Given the description of an element on the screen output the (x, y) to click on. 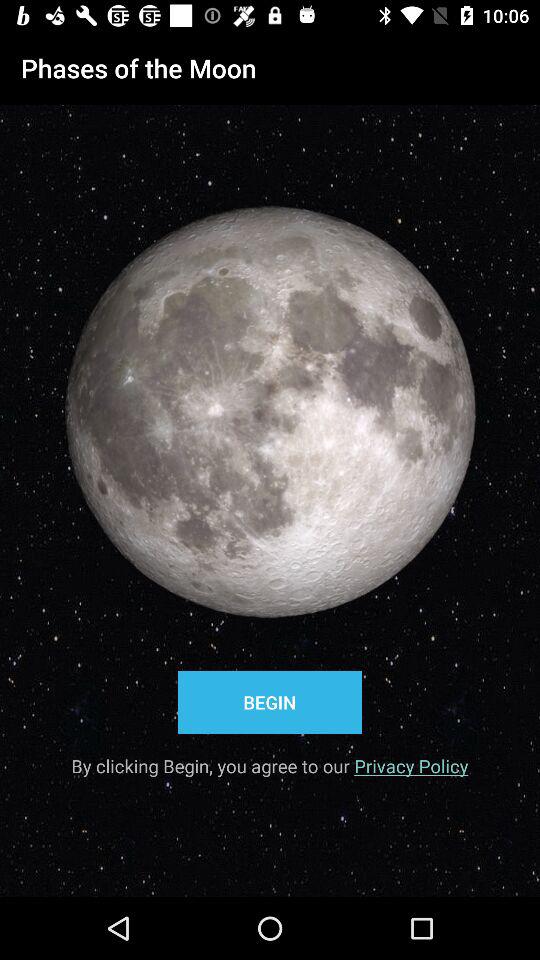
tap by clicking begin (269, 759)
